Given the description of an element on the screen output the (x, y) to click on. 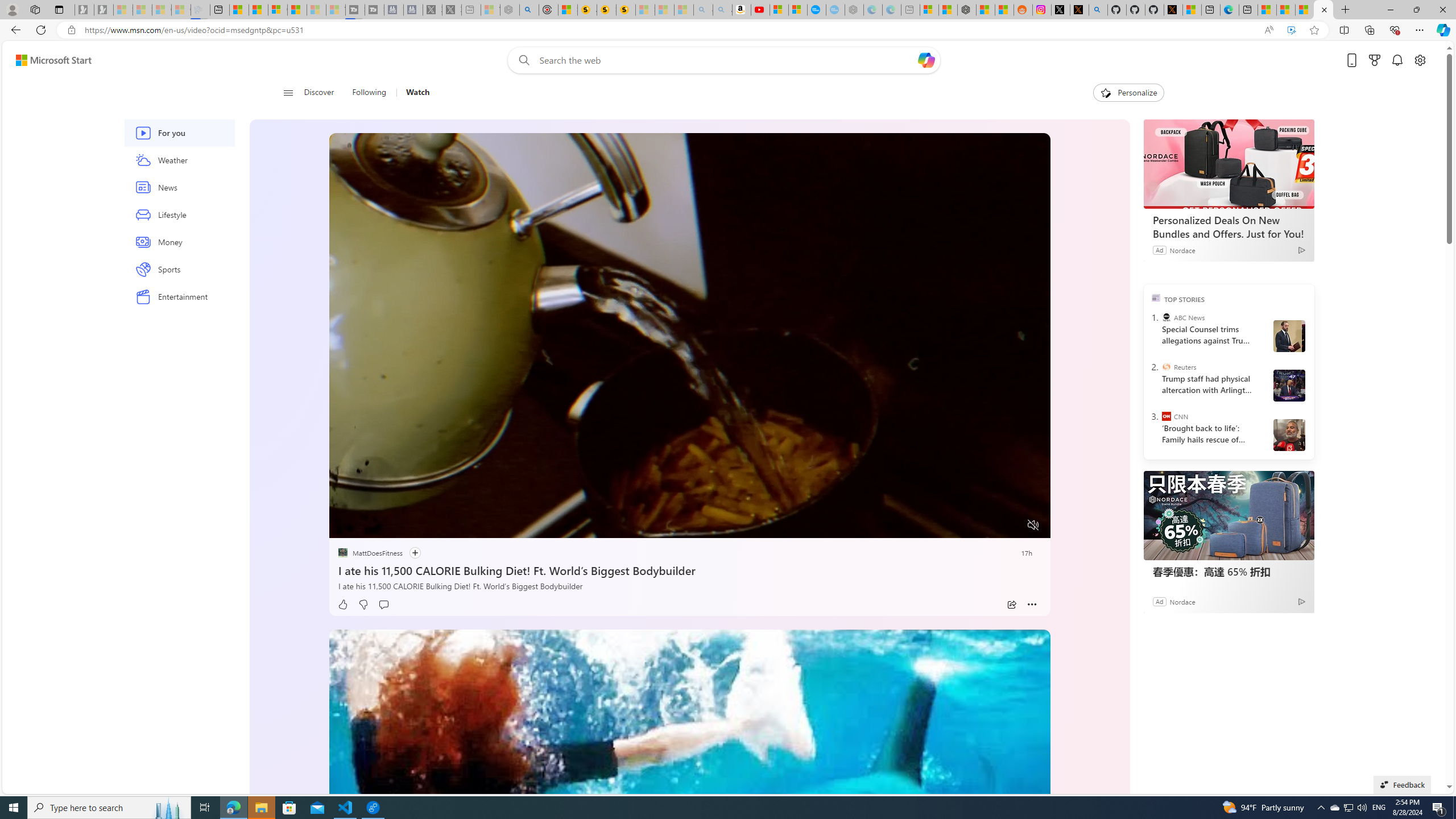
Seek Forward (391, 525)
Follow (414, 553)
Enhance video (1291, 29)
Open navigation menu (287, 92)
